Given the description of an element on the screen output the (x, y) to click on. 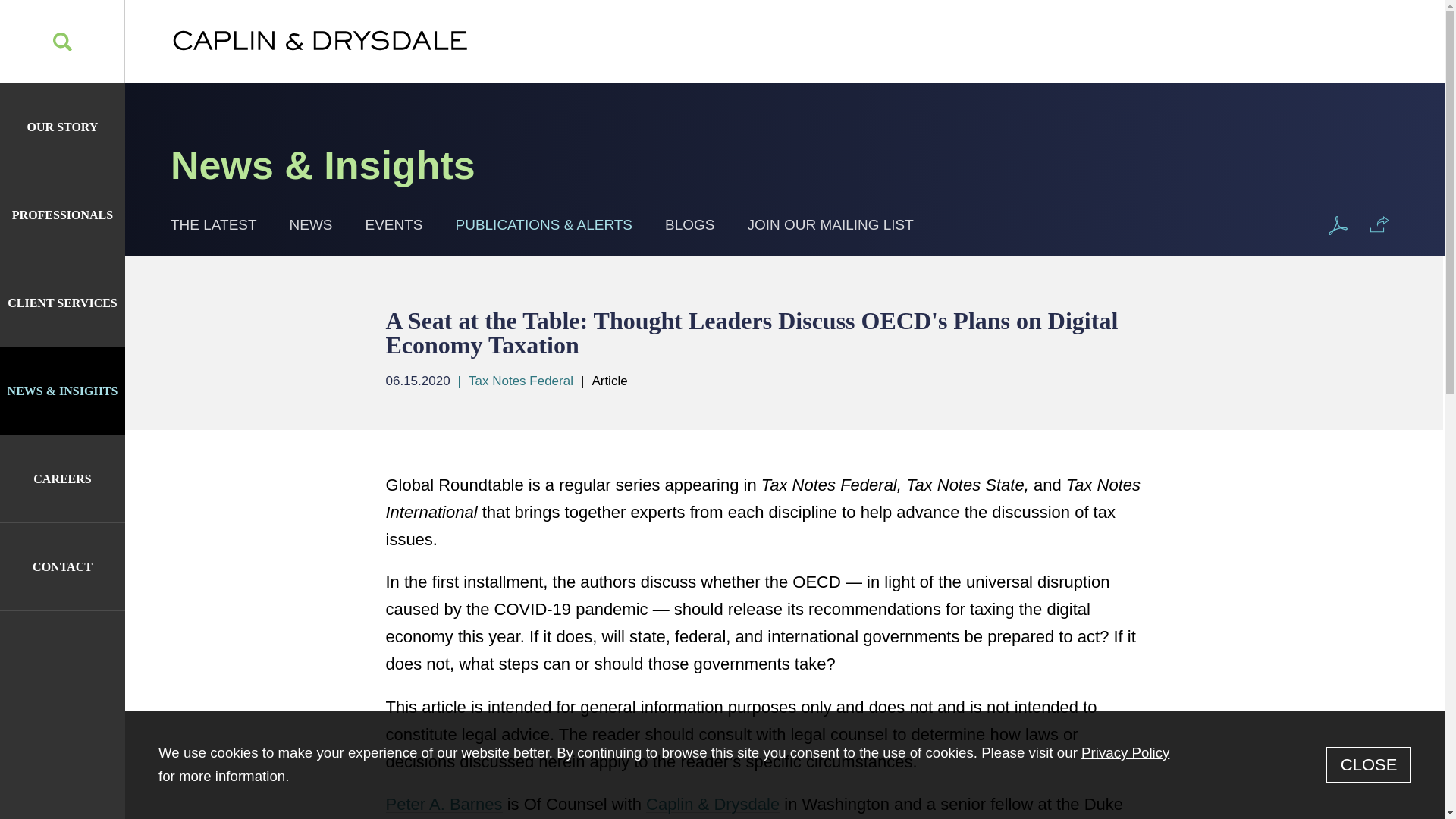
Main Content (660, 21)
CLIENT SERVICES (62, 302)
Menu (669, 21)
Main Menu (669, 21)
OUR STORY (62, 126)
CONTACT (62, 566)
PROFESSIONALS (62, 214)
Share (1379, 224)
CAREERS (62, 478)
